Given the description of an element on the screen output the (x, y) to click on. 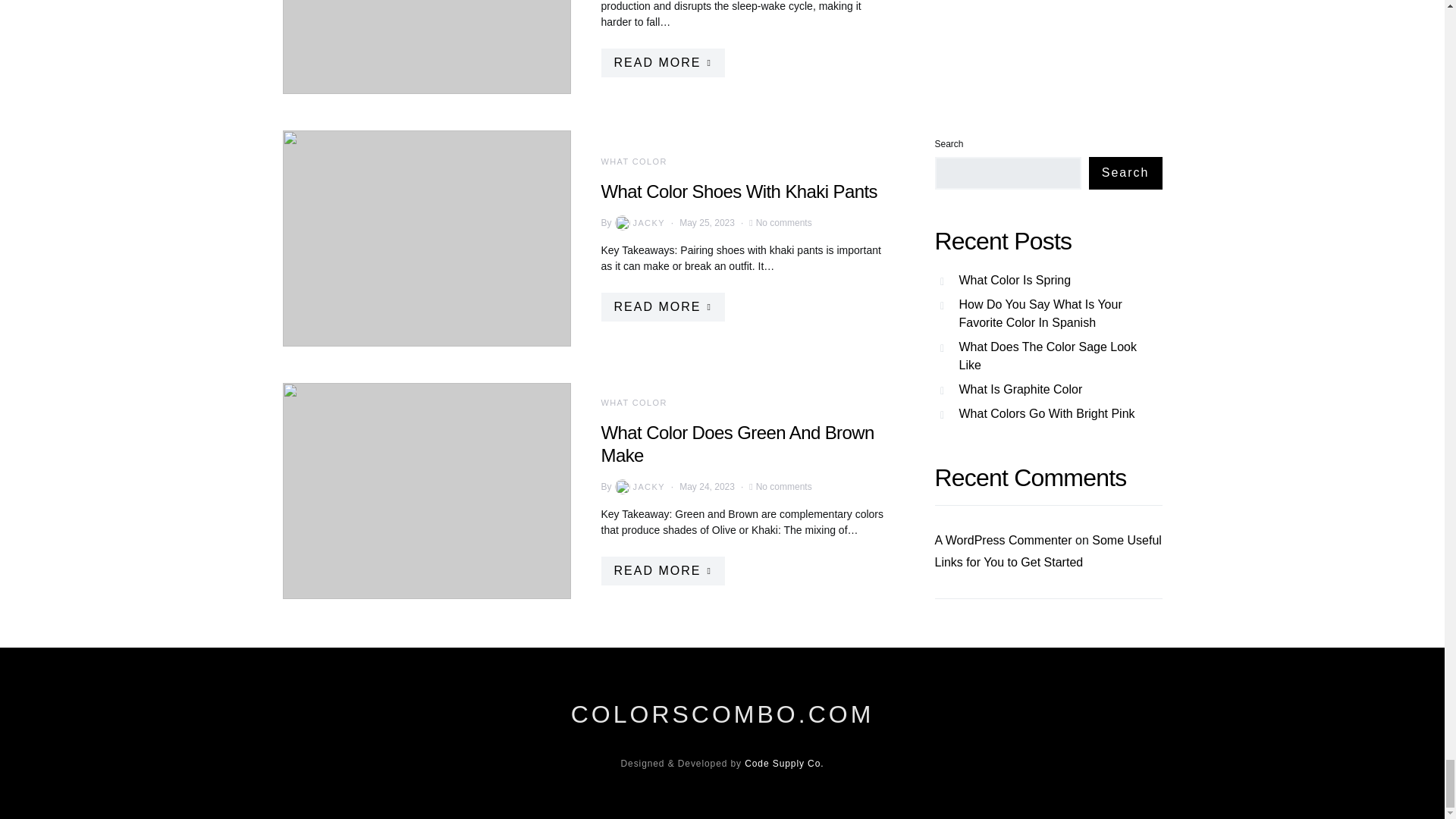
View all posts by Jacky (638, 486)
View all posts by Jacky (638, 222)
